Given the description of an element on the screen output the (x, y) to click on. 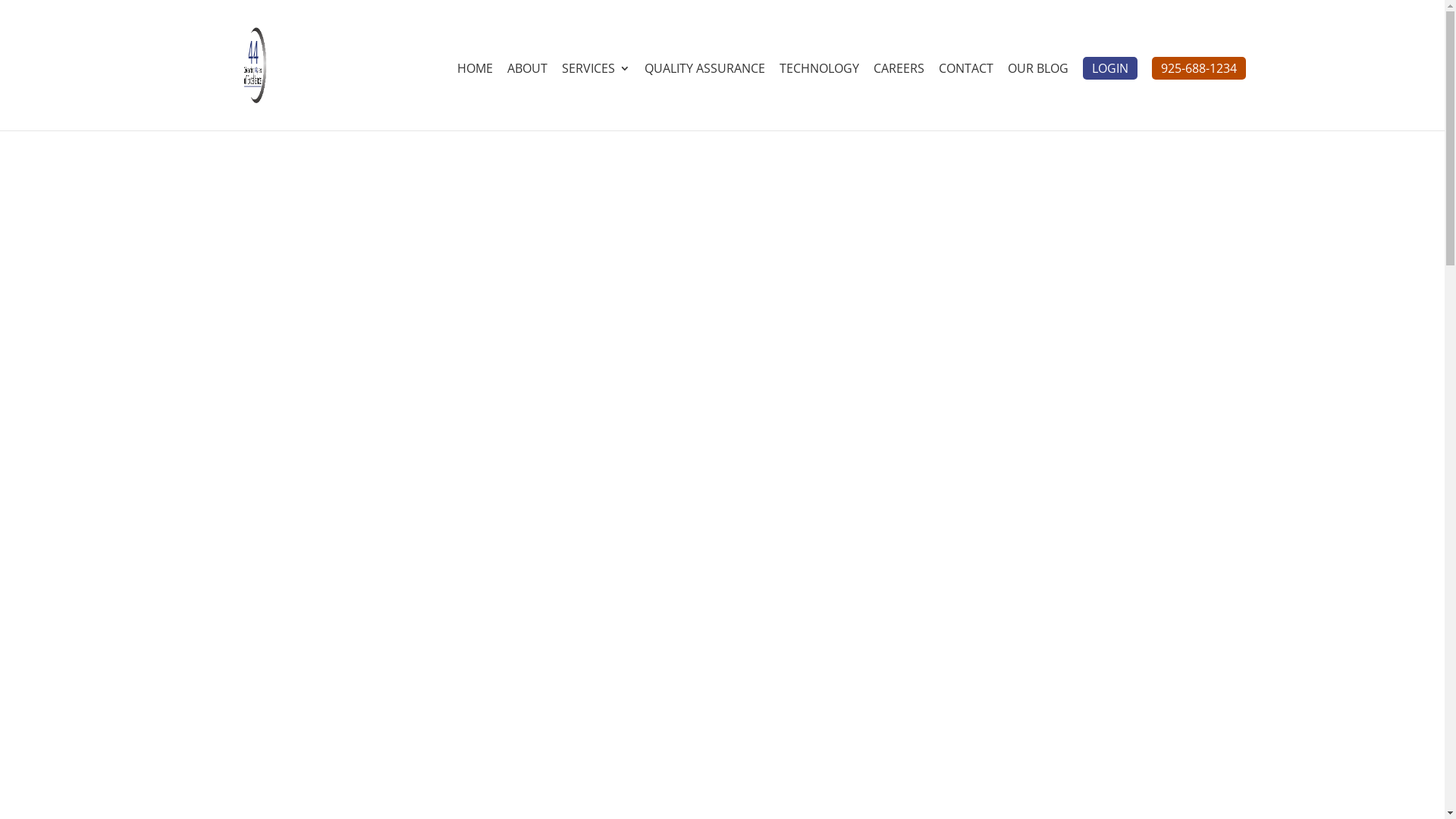
TECHNOLOGY Element type: text (819, 96)
CAREERS Element type: text (898, 96)
SERVICES Element type: text (595, 96)
CONTACT Element type: text (965, 96)
LOGIN Element type: text (1109, 67)
QUALITY ASSURANCE Element type: text (704, 96)
925-688-1234 Element type: text (1198, 67)
HOME Element type: text (474, 96)
ABOUT Element type: text (526, 96)
OUR BLOG Element type: text (1037, 96)
